Given the description of an element on the screen output the (x, y) to click on. 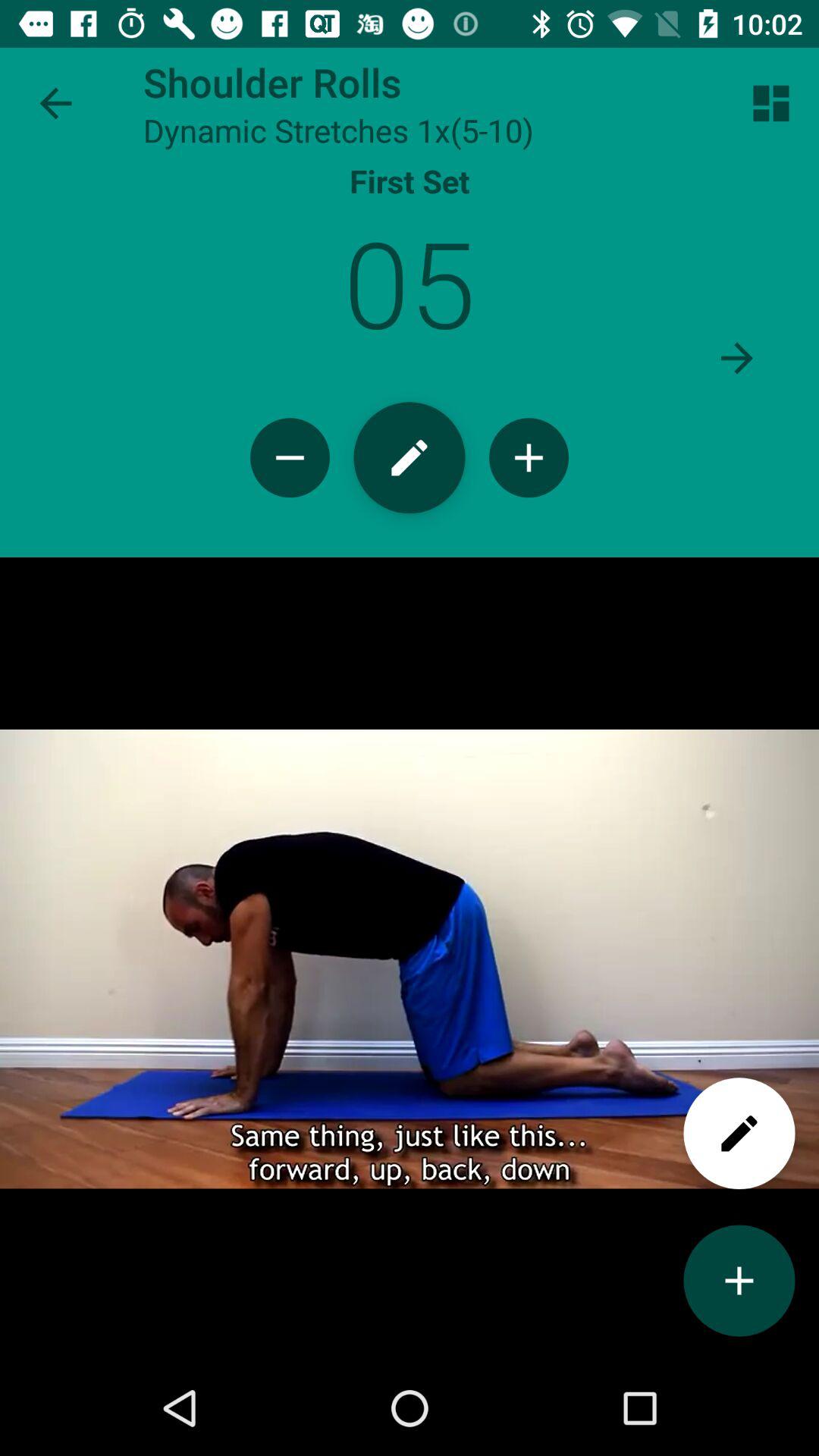
log workout (409, 457)
